Given the description of an element on the screen output the (x, y) to click on. 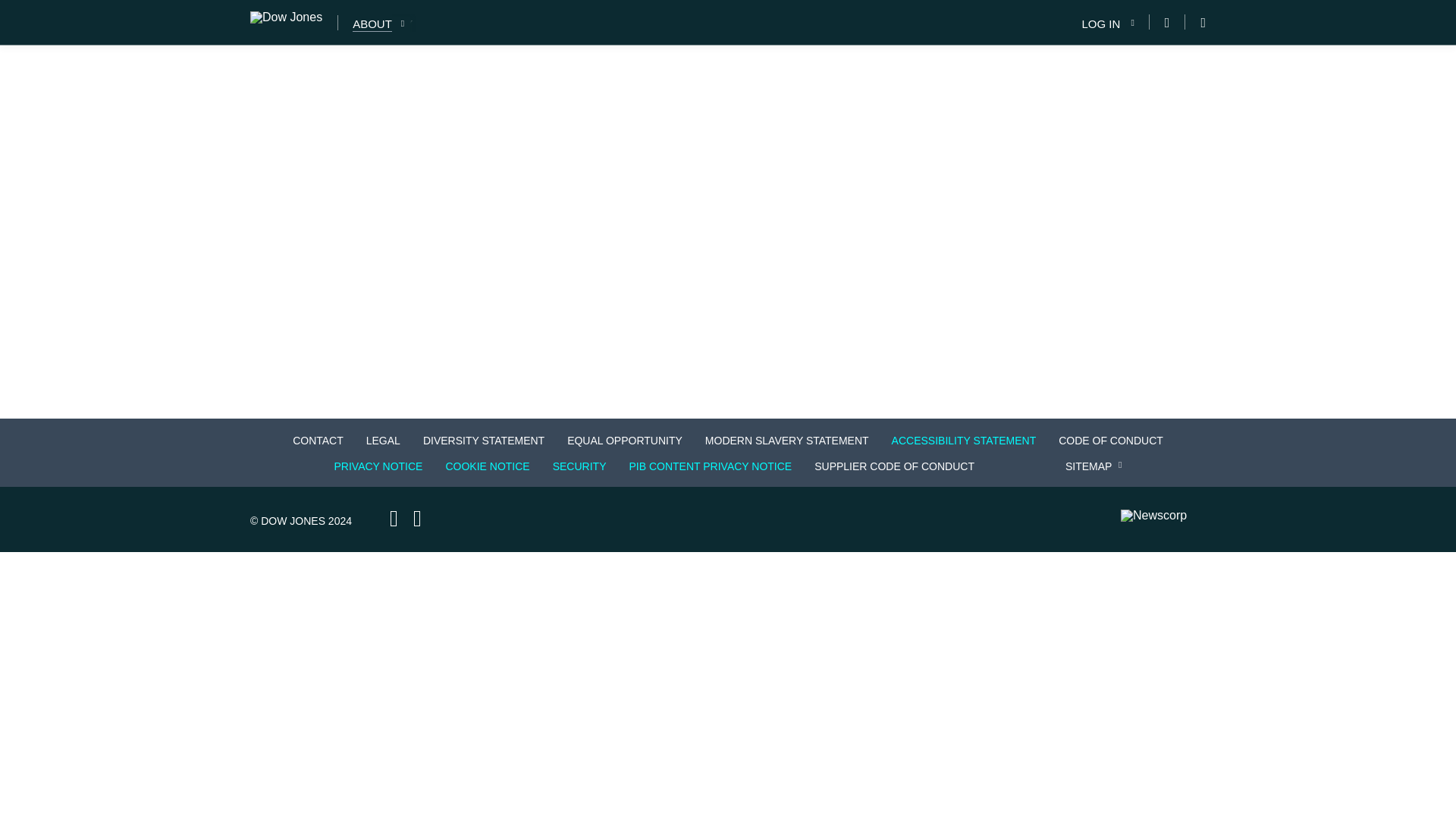
COOKIE NOTICE (487, 466)
MODERN SLAVERY STATEMENT (786, 440)
ABOUT (371, 23)
About       (371, 23)
CODE OF CONDUCT (1110, 440)
LEGAL (382, 440)
ACCESSIBILITY STATEMENT (963, 440)
PIB CONTENT PRIVACY NOTICE (710, 466)
LOG IN (1105, 22)
TRACI MABREY (370, 23)
EQUAL OPPORTUNITY (624, 440)
CONTACT (317, 440)
PRIVACY NOTICE (377, 466)
DIVERSITY STATEMENT (482, 440)
Go to homepage       (293, 22)
